Given the description of an element on the screen output the (x, y) to click on. 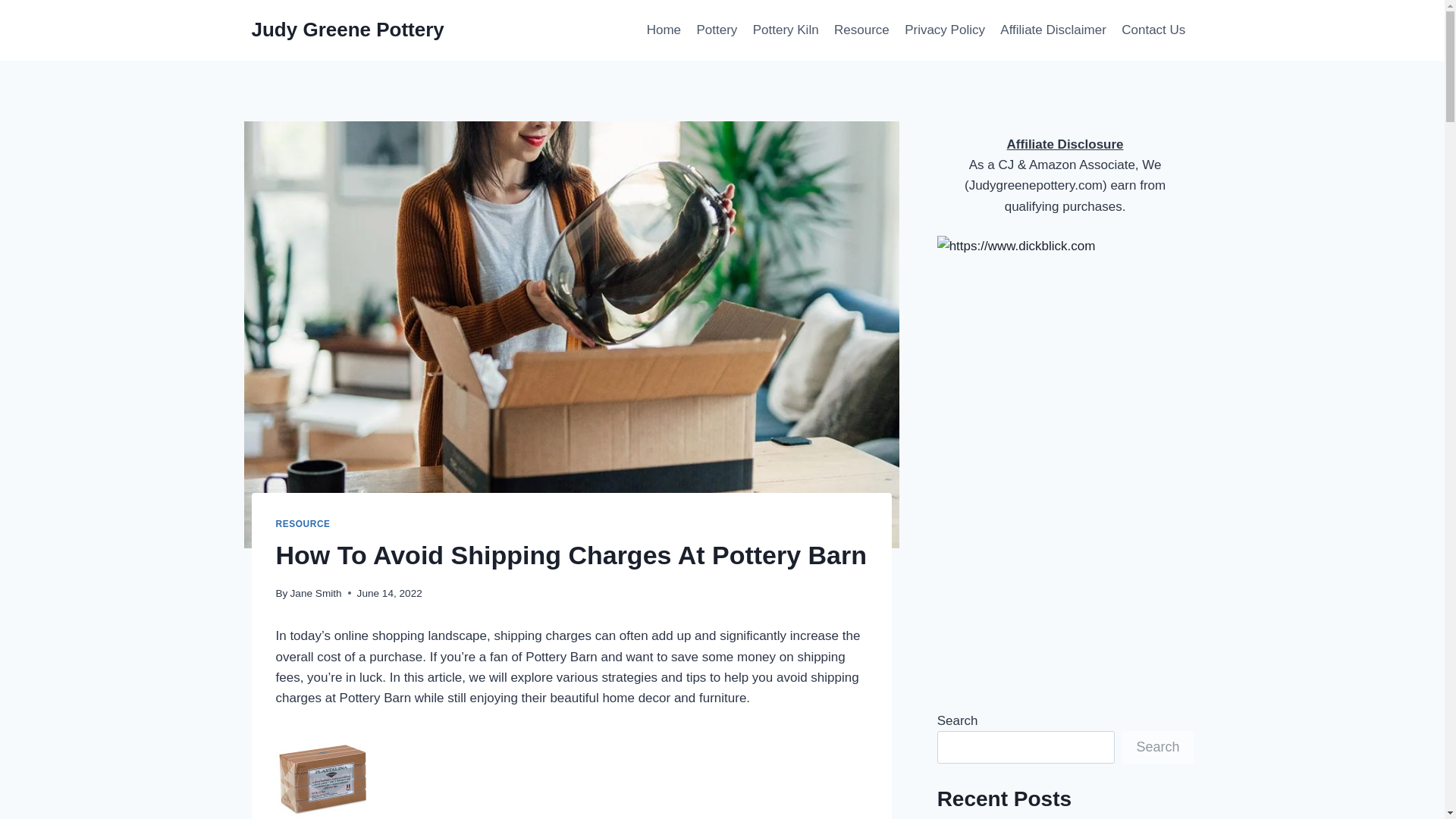
Judy Greene Pottery (347, 29)
RESOURCE (303, 523)
Jane Smith (315, 593)
Pottery Kiln (784, 30)
Privacy Policy (944, 30)
Pottery (716, 30)
Affiliate Disclaimer (1052, 30)
Contact Us (1152, 30)
Home (663, 30)
Resource (861, 30)
